Given the description of an element on the screen output the (x, y) to click on. 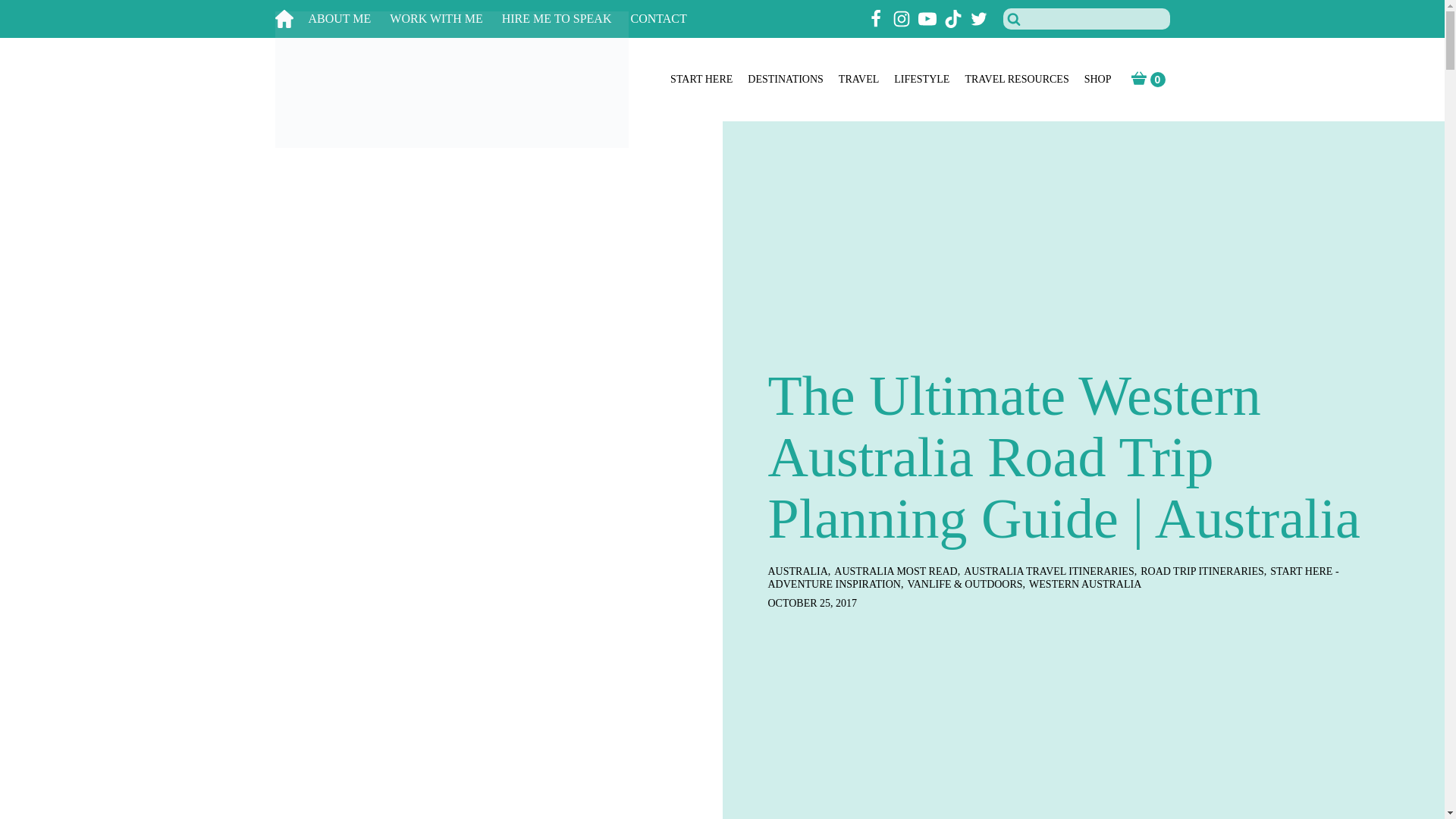
DESTINATIONS (786, 79)
LIFESTYLE (921, 79)
HIRE ME TO SPEAK (566, 19)
Search (31, 13)
ABOUT ME (348, 19)
START HERE (700, 79)
TRAVEL (858, 79)
TRAVEL RESOURCES (1015, 79)
SHOP (1098, 79)
CONTACT (667, 19)
